Given the description of an element on the screen output the (x, y) to click on. 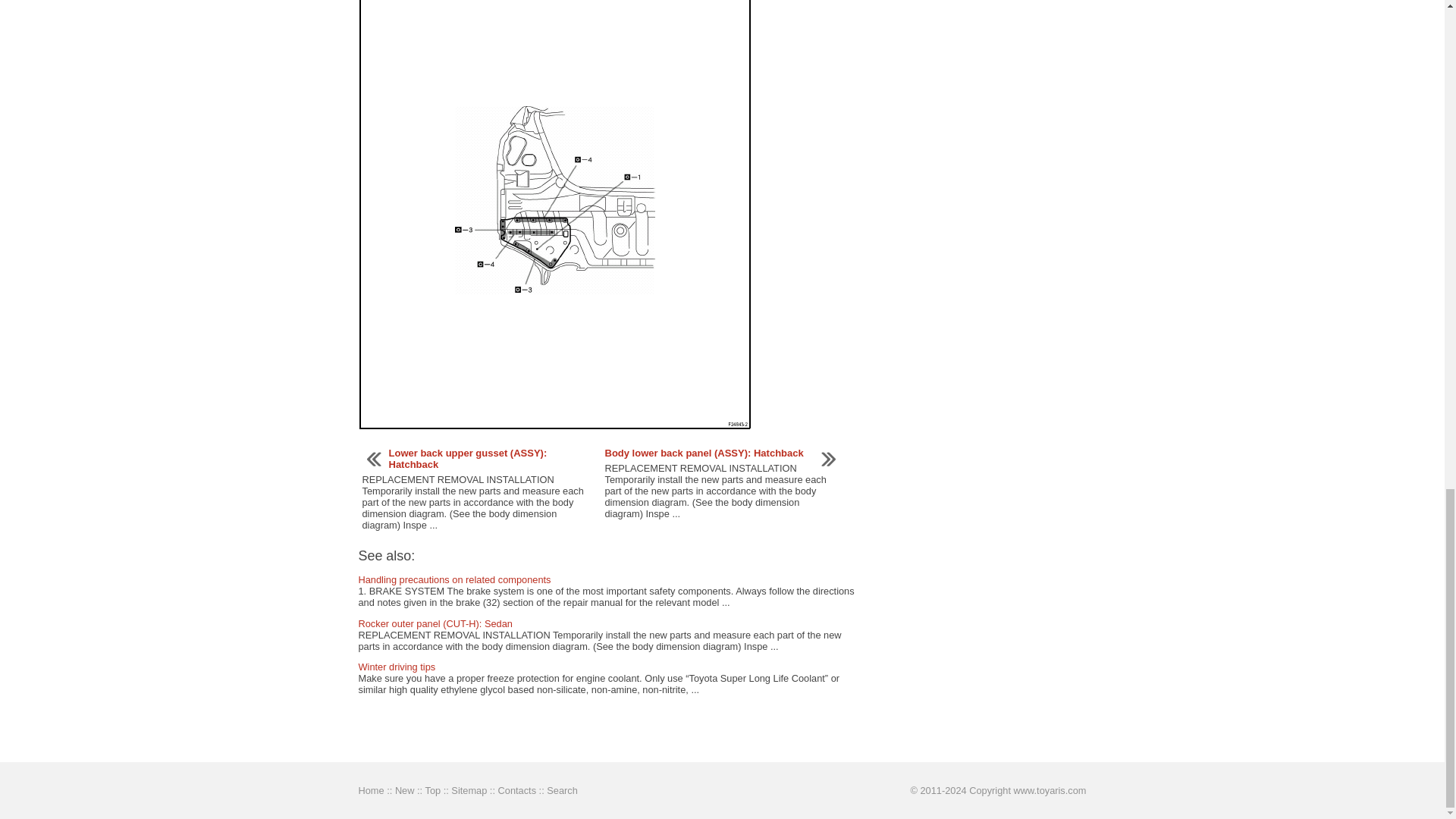
New (404, 790)
Handling precautions on related components (454, 579)
Search (562, 790)
Top (433, 790)
Contacts (517, 790)
Winter driving tips (396, 666)
Home (371, 790)
Sitemap (468, 790)
